Given the description of an element on the screen output the (x, y) to click on. 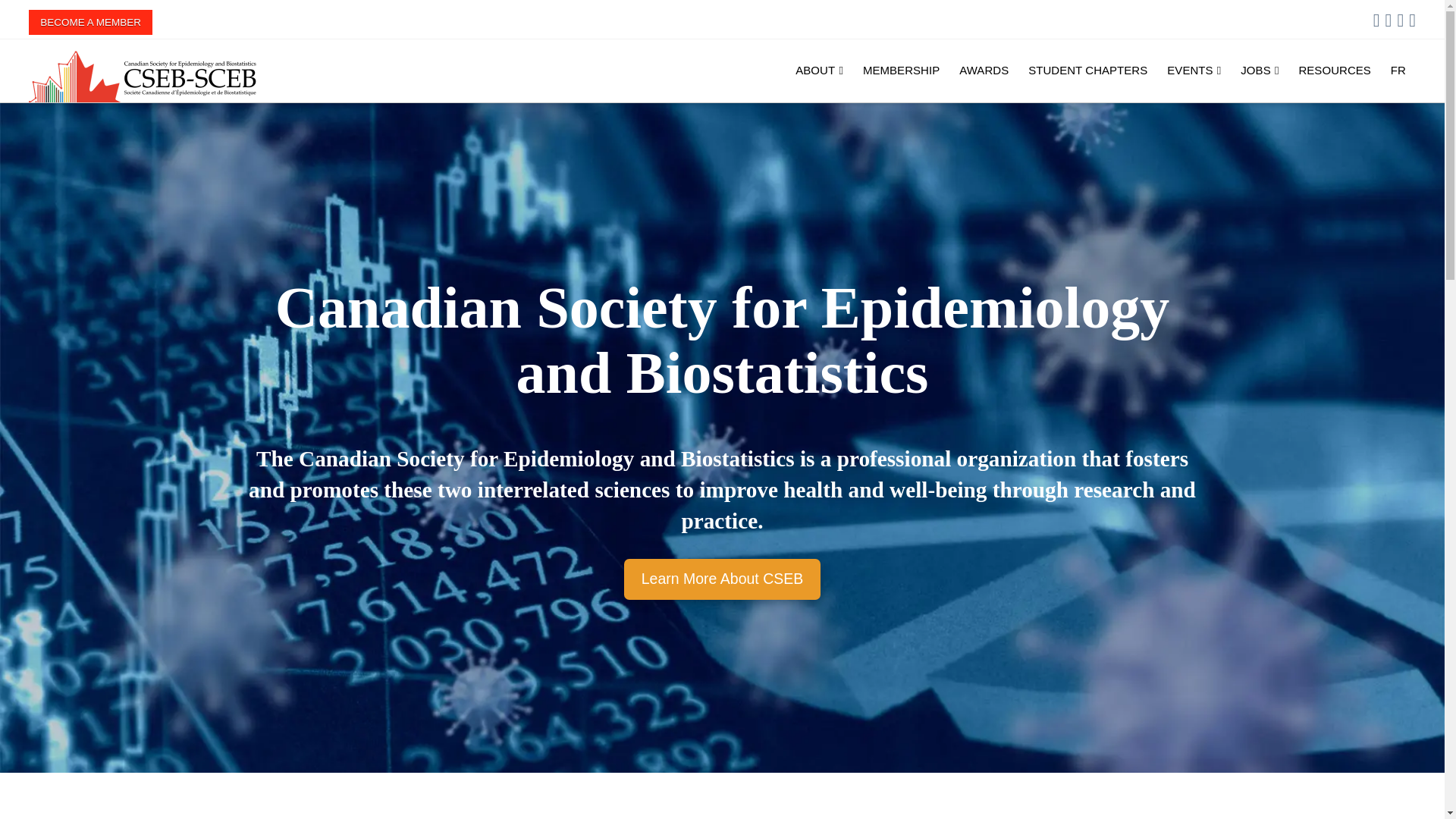
AWARDS (983, 69)
MEMBERSHIP (901, 69)
FR (1397, 69)
LinkedIn (1399, 20)
RESOURCES (1334, 69)
EVENTS (1193, 69)
FR (1397, 69)
Facebook (1376, 20)
BECOME A MEMBER (90, 22)
YouTube (1412, 20)
JOBS (1259, 69)
STUDENT CHAPTERS (1087, 69)
ABOUT (819, 69)
